Given the description of an element on the screen output the (x, y) to click on. 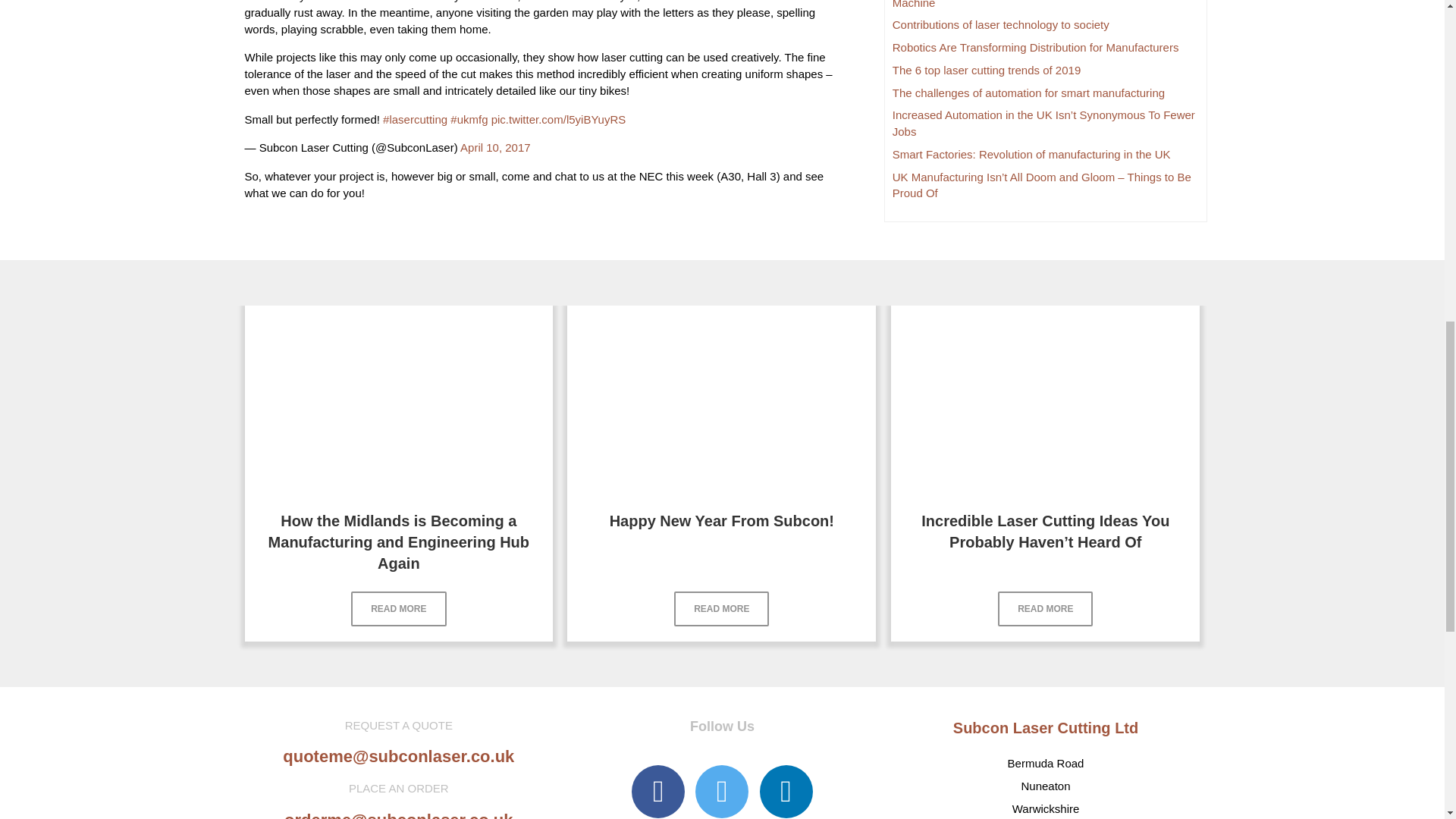
Happy New Year From Subcon! (721, 399)
Happy New Year From Subcon! (722, 520)
